Given the description of an element on the screen output the (x, y) to click on. 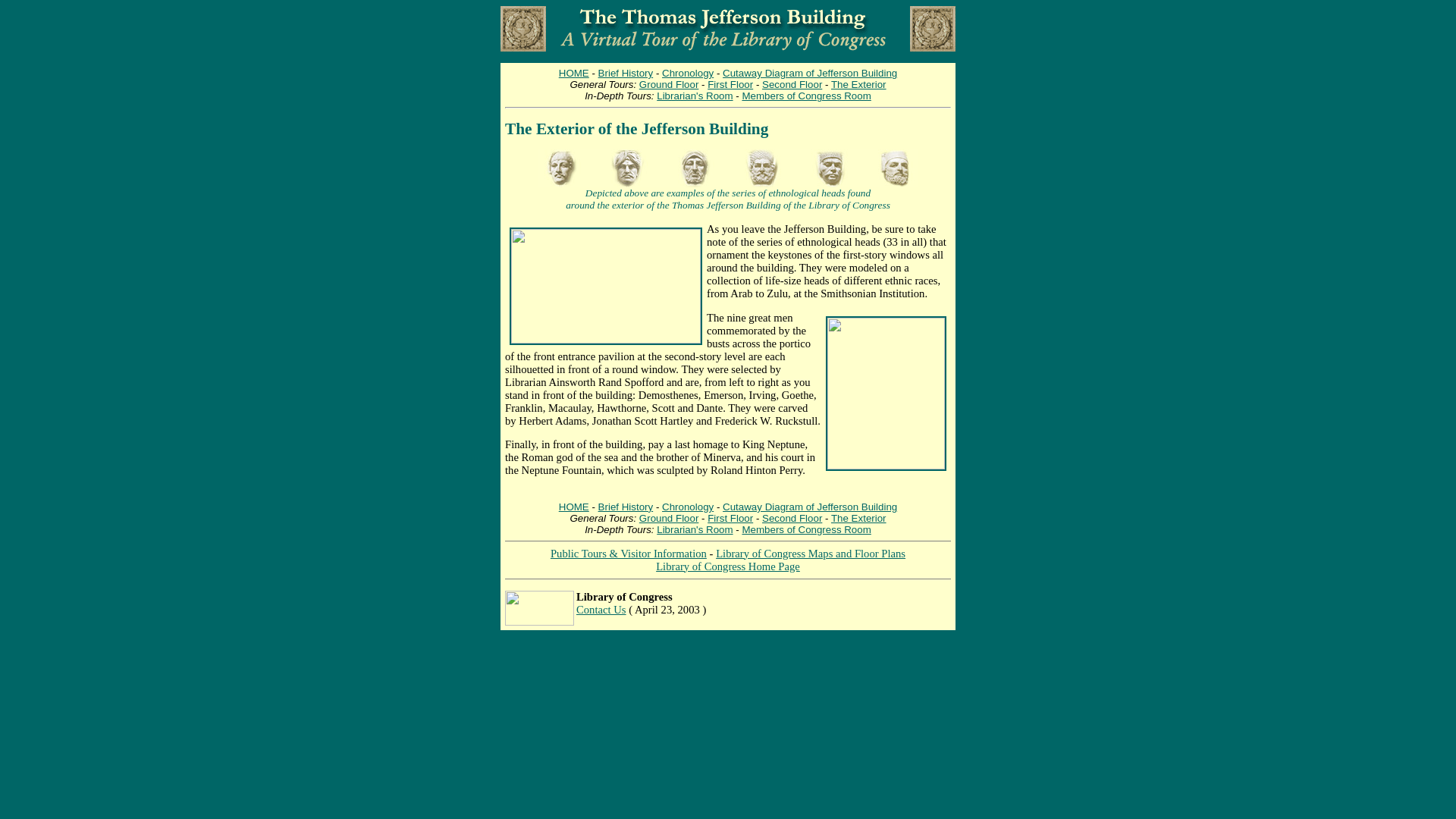
Cutaway Diagram of Jefferson Building (809, 506)
HOME (574, 72)
The Exterior (858, 518)
Members of Congress Room (805, 529)
Librarian's Room (694, 529)
Second Floor (791, 518)
HOME (574, 506)
Ground Floor (668, 84)
Brief History (625, 72)
Brief History (625, 506)
Cutaway Diagram of Jefferson Building (809, 72)
Ground Floor (668, 518)
Contact Us (601, 609)
Chronology (687, 506)
Chronology (687, 72)
